Given the description of an element on the screen output the (x, y) to click on. 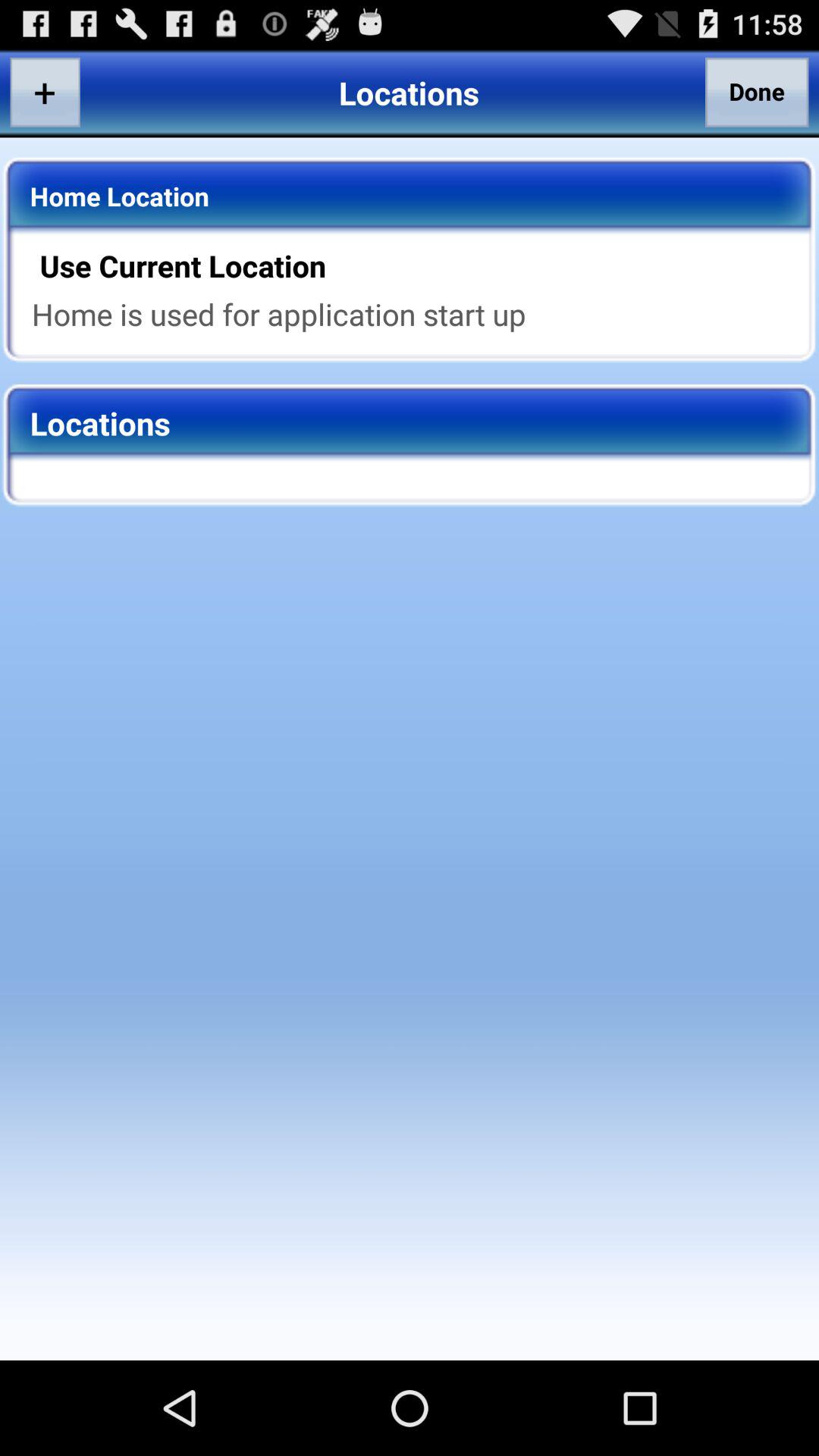
turn on the icon at the top right corner (756, 92)
